Given the description of an element on the screen output the (x, y) to click on. 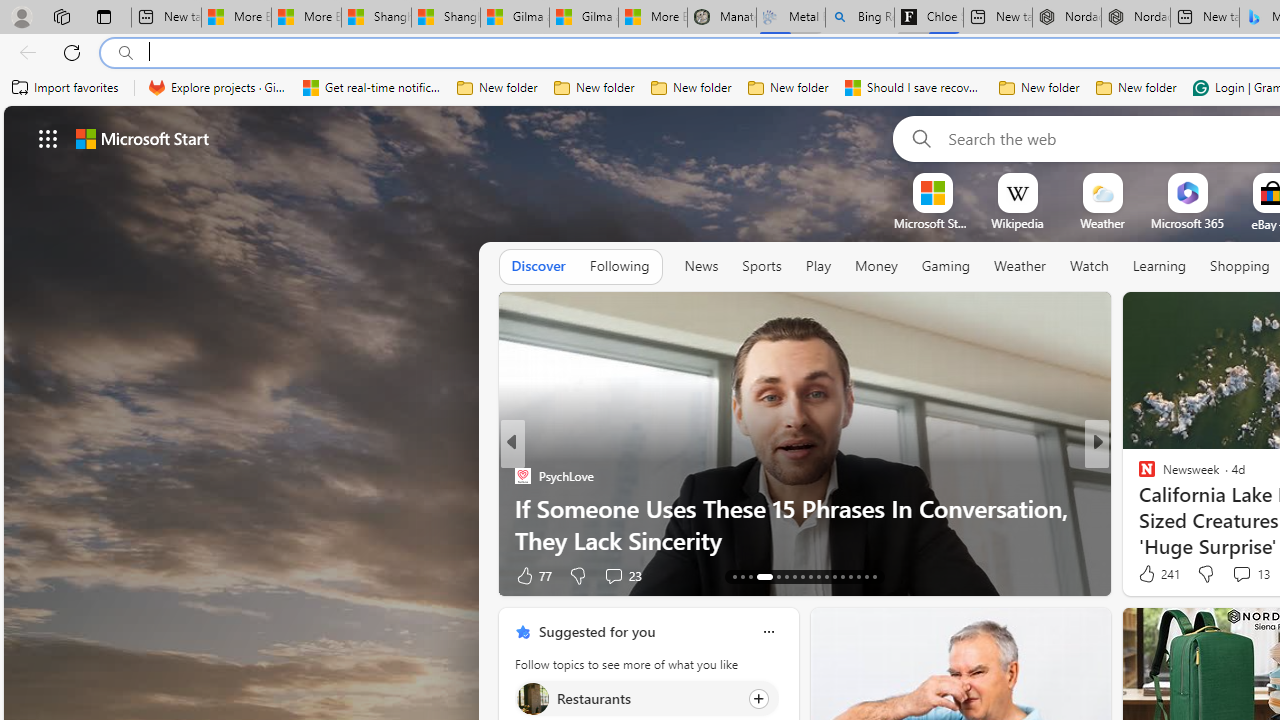
248 Like (1151, 574)
209 Like (535, 574)
241 Like (1157, 574)
View comments 18 Comment (1244, 574)
Click to follow topic Restaurants (646, 698)
USA TODAY College Sports Wire (1138, 475)
View comments 5 Comment (1229, 575)
Chloe Sorvino (928, 17)
View comments 22 Comment (1244, 574)
16 Like (1149, 574)
